Given the description of an element on the screen output the (x, y) to click on. 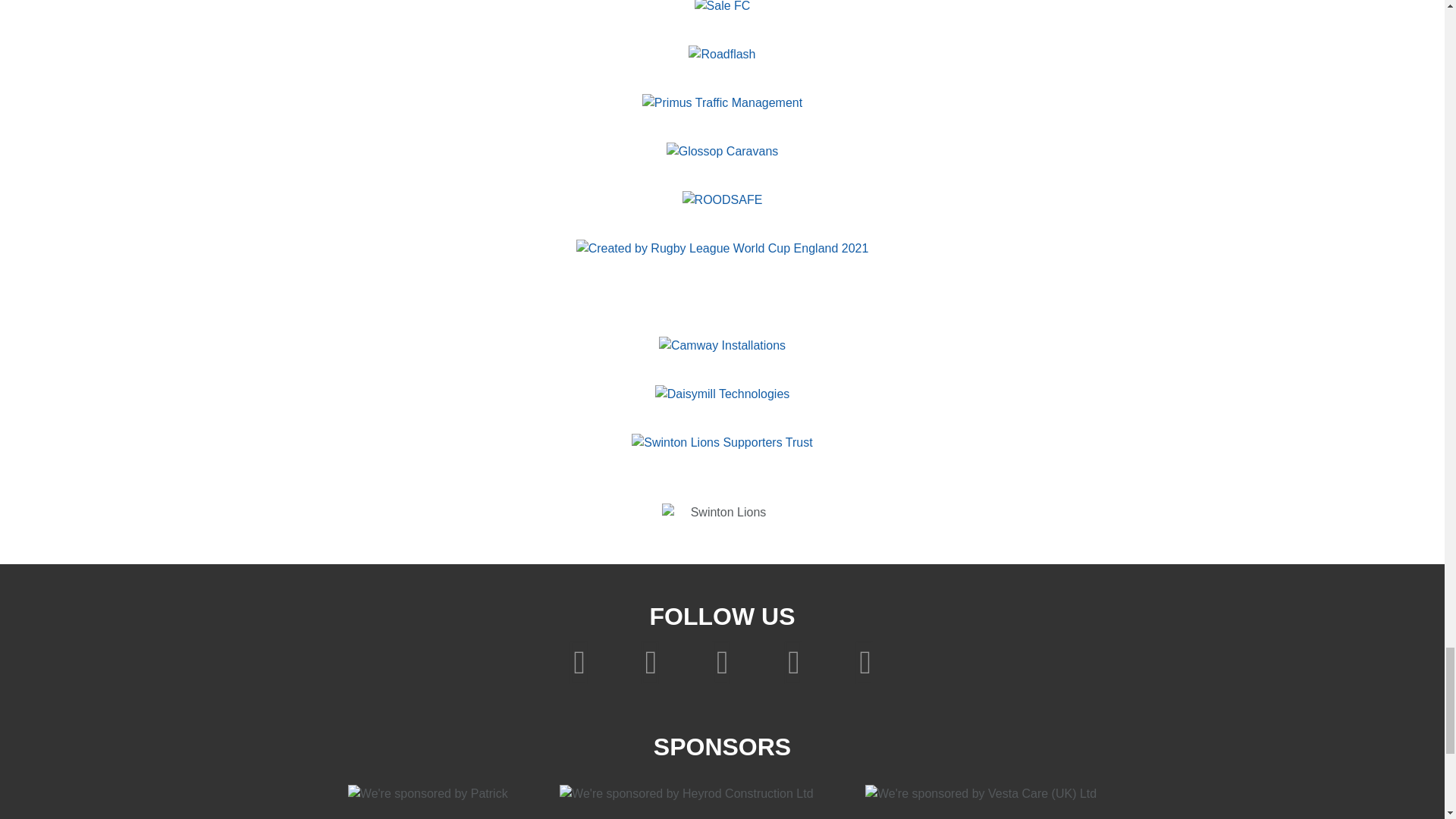
Follow on Twitter (654, 660)
Like on Facebook (582, 660)
Like on Instagram (725, 660)
Connect on LinkedIn (864, 660)
Like on YouTube (796, 660)
